Given the description of an element on the screen output the (x, y) to click on. 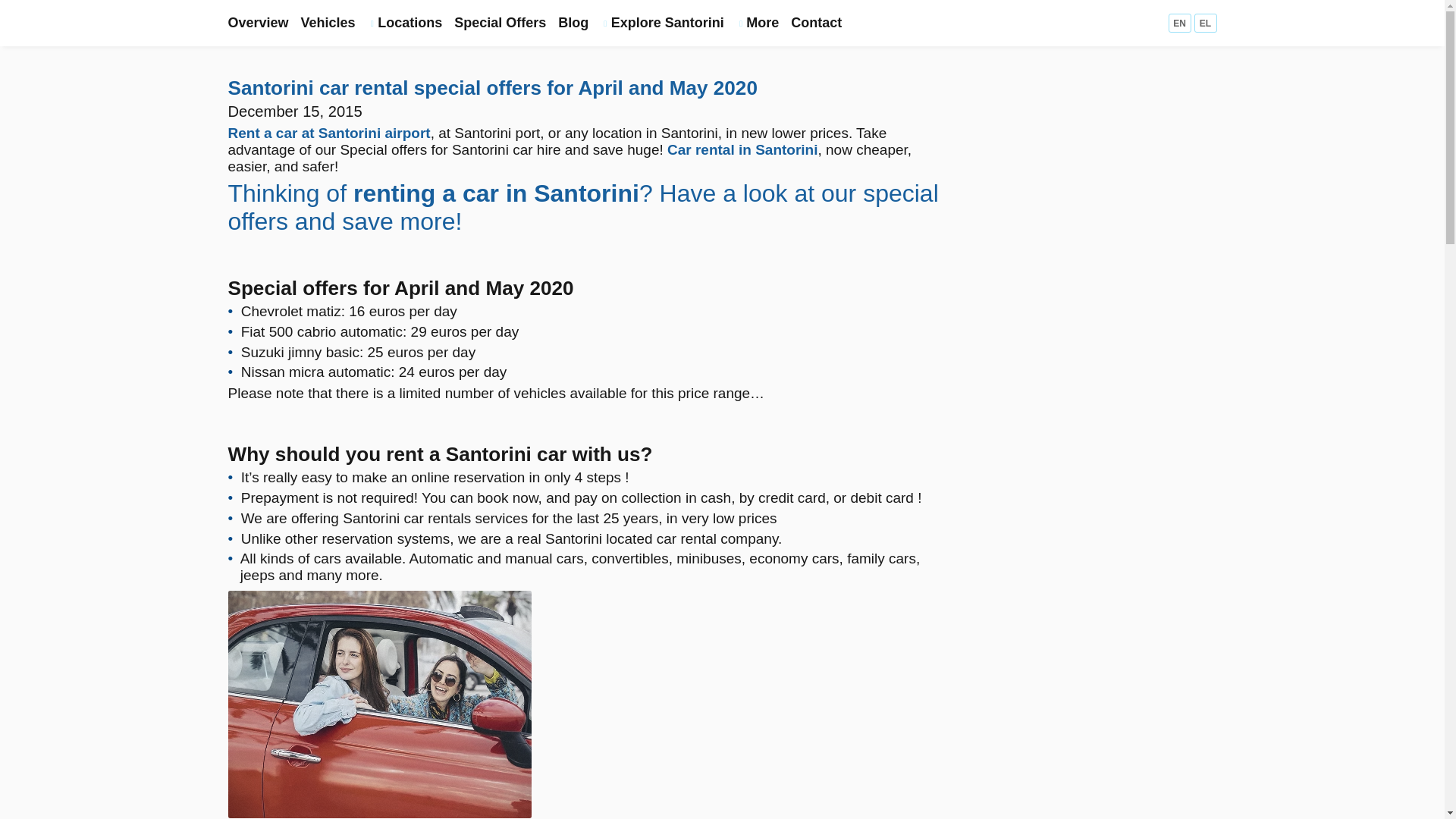
Locations (405, 22)
Vehicles (328, 22)
Rent a car at Santorini airport (328, 132)
Explore Santorini (661, 22)
renting a car in Santorini (496, 193)
Rent a car at Santorini airport (328, 132)
Car rental in Santorini (741, 149)
More (757, 22)
Santorini car rental special offers for April and May (379, 704)
Overview (257, 22)
